Given the description of an element on the screen output the (x, y) to click on. 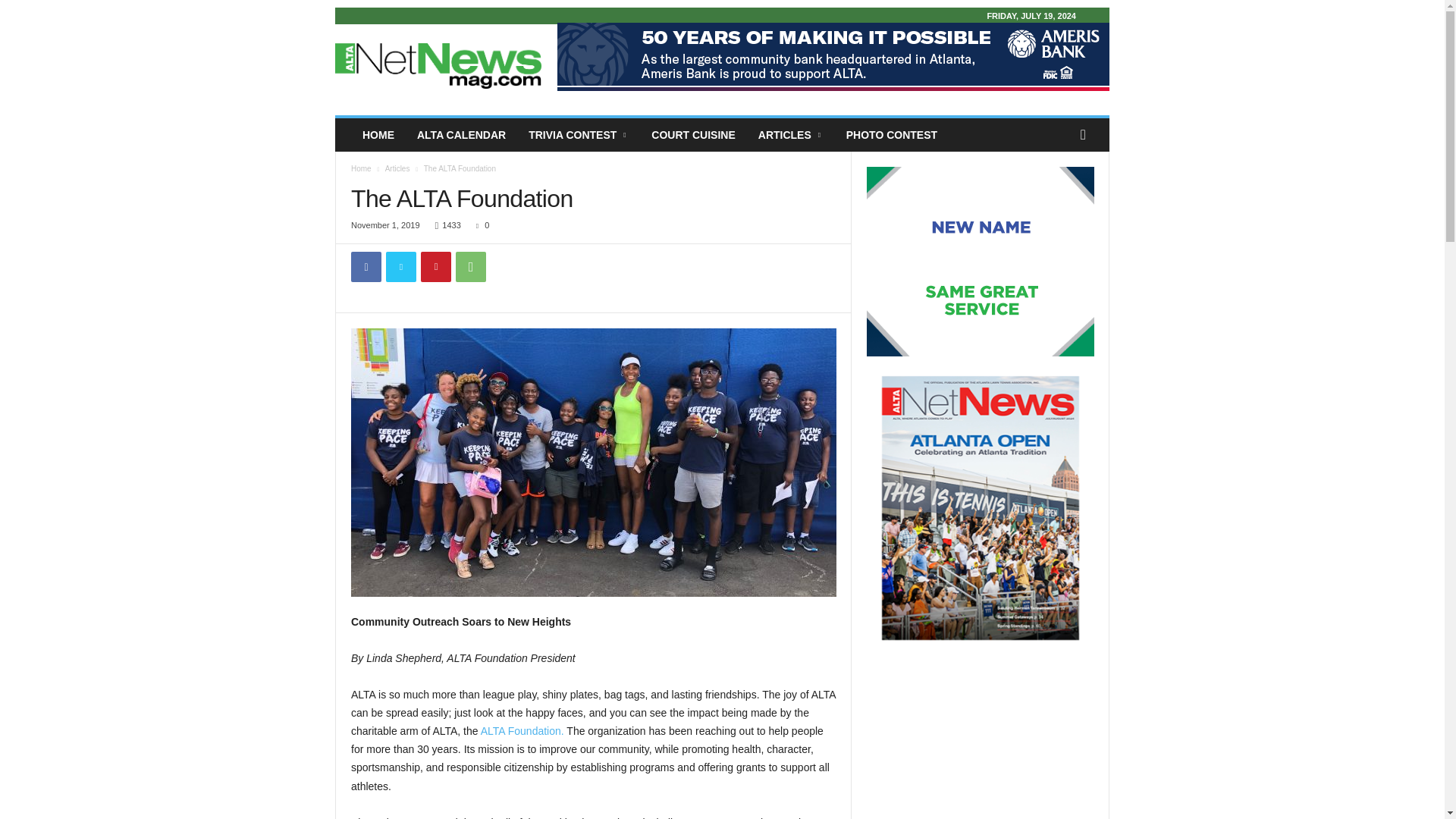
View all posts in Articles (397, 168)
TRIVIA CONTEST (578, 134)
Facebook (365, 266)
HOME (378, 134)
Articles (397, 168)
Home (360, 168)
PHOTO CONTEST (891, 134)
Pinterest (435, 266)
Twitter (400, 266)
0 (479, 225)
ALTA CALENDAR (461, 134)
keeping pace and venus (592, 462)
COURT CUISINE (692, 134)
ALTA Net News Magazine (437, 65)
ARTICLES (790, 134)
